Given the description of an element on the screen output the (x, y) to click on. 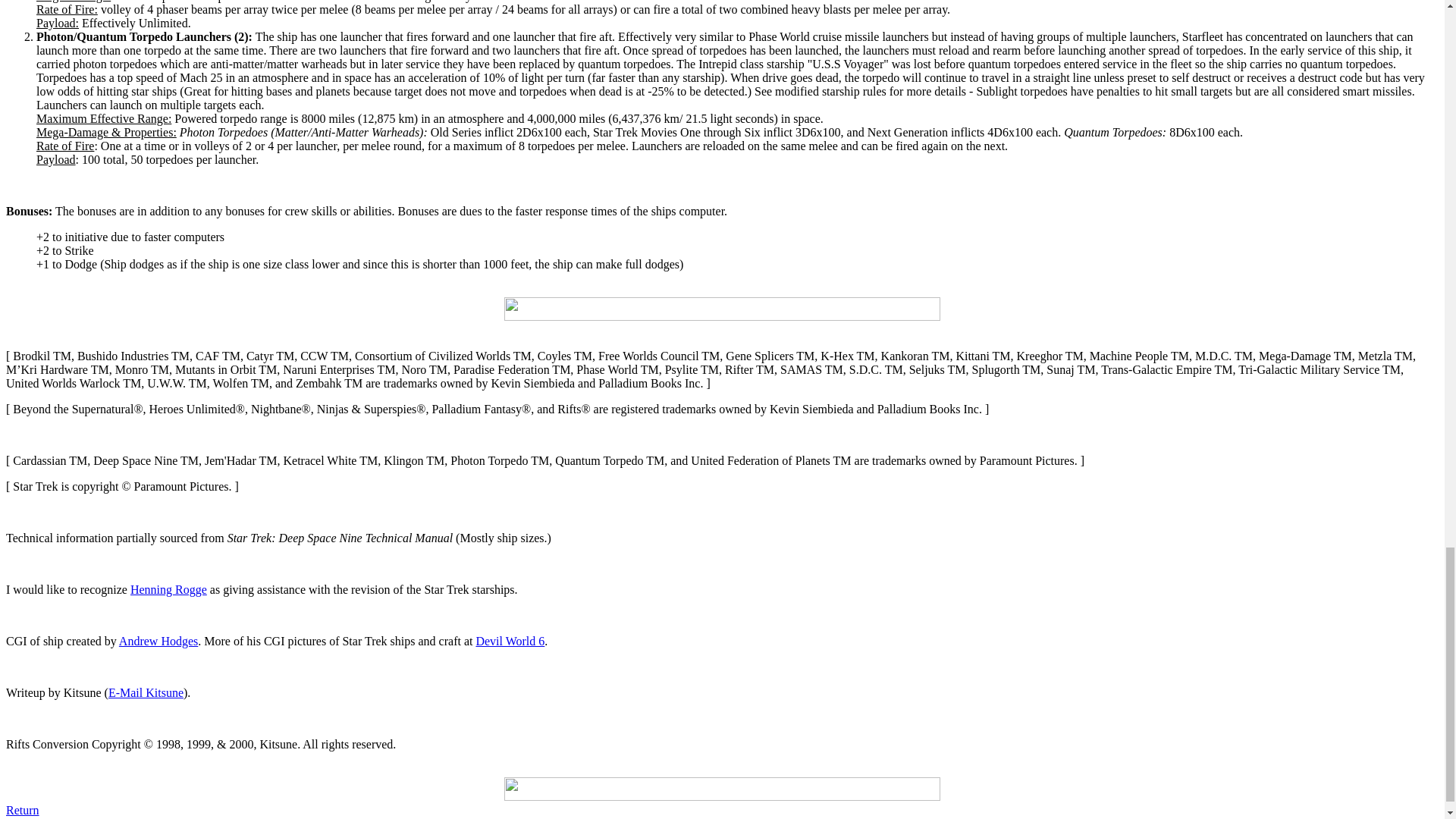
Devil World 6 (510, 640)
E-Mail Kitsune (145, 692)
Andrew Hodges (158, 640)
Henning Rogge (168, 589)
Return (22, 809)
